Given the description of an element on the screen output the (x, y) to click on. 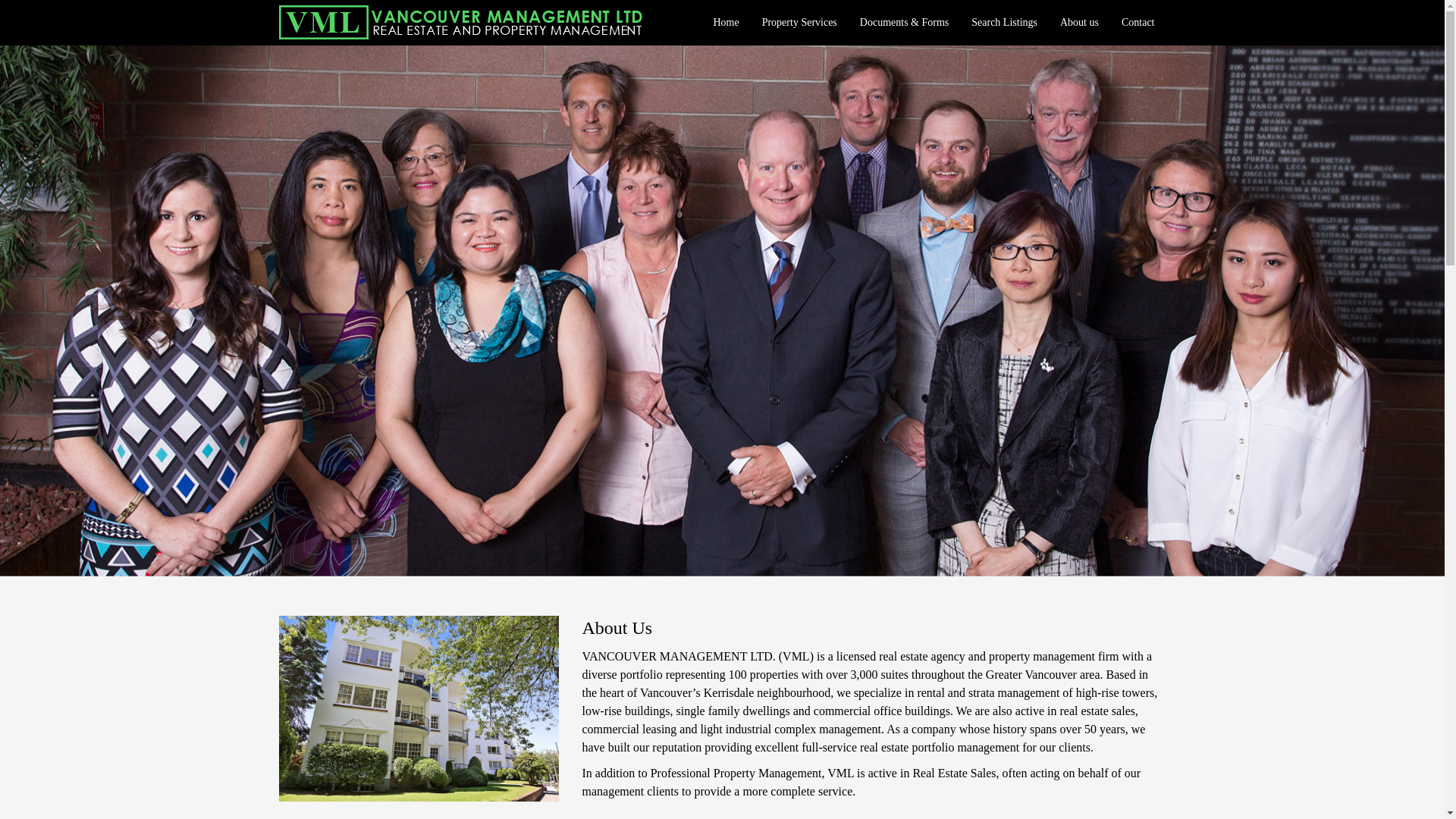
Documents & Forms Element type: text (904, 22)
Contact Element type: text (1138, 22)
Search Listings Element type: text (1004, 22)
Property Services Element type: text (799, 22)
Home Element type: text (725, 22)
About us Element type: text (1079, 22)
